Given the description of an element on the screen output the (x, y) to click on. 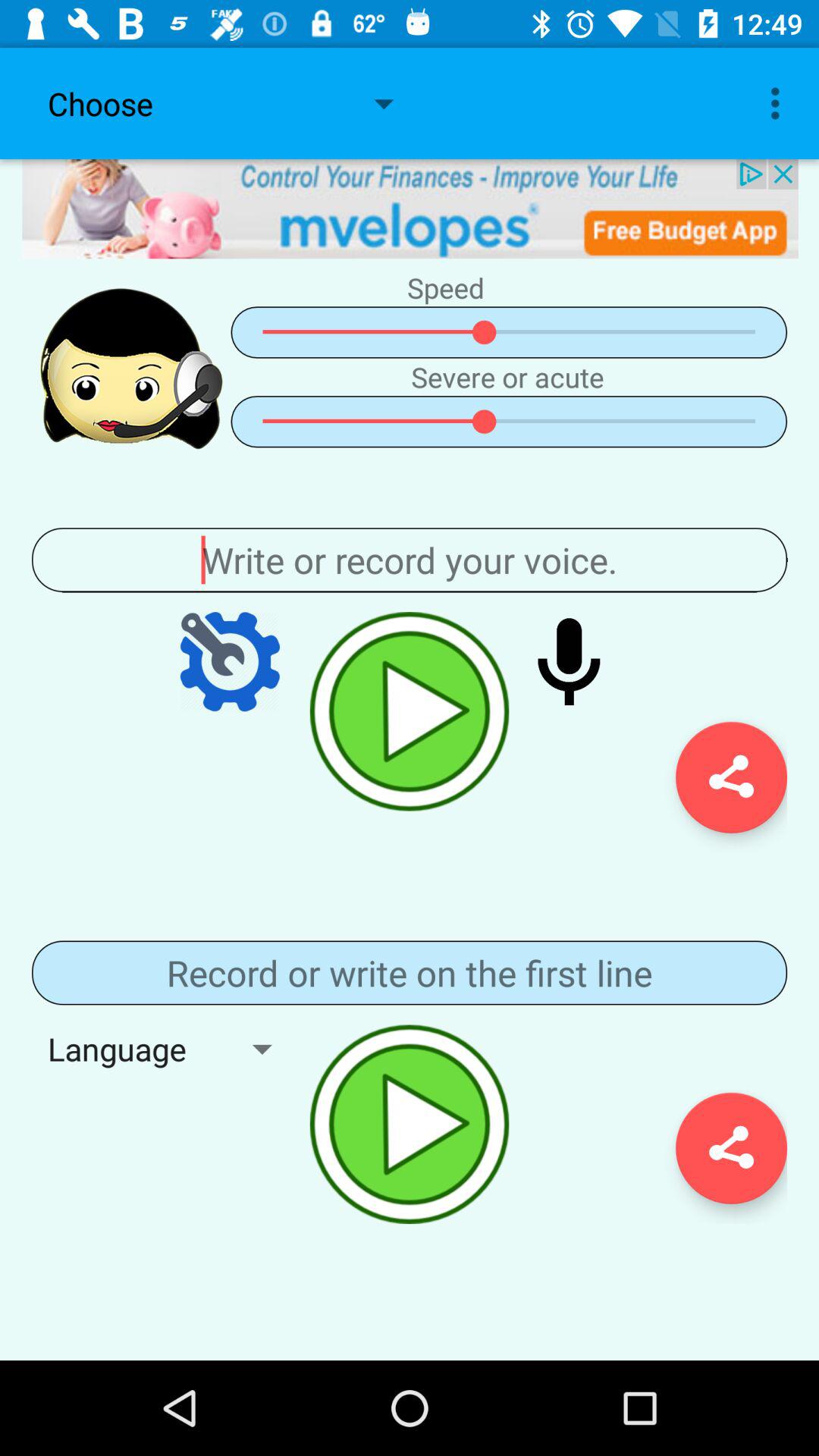
game page (409, 972)
